Given the description of an element on the screen output the (x, y) to click on. 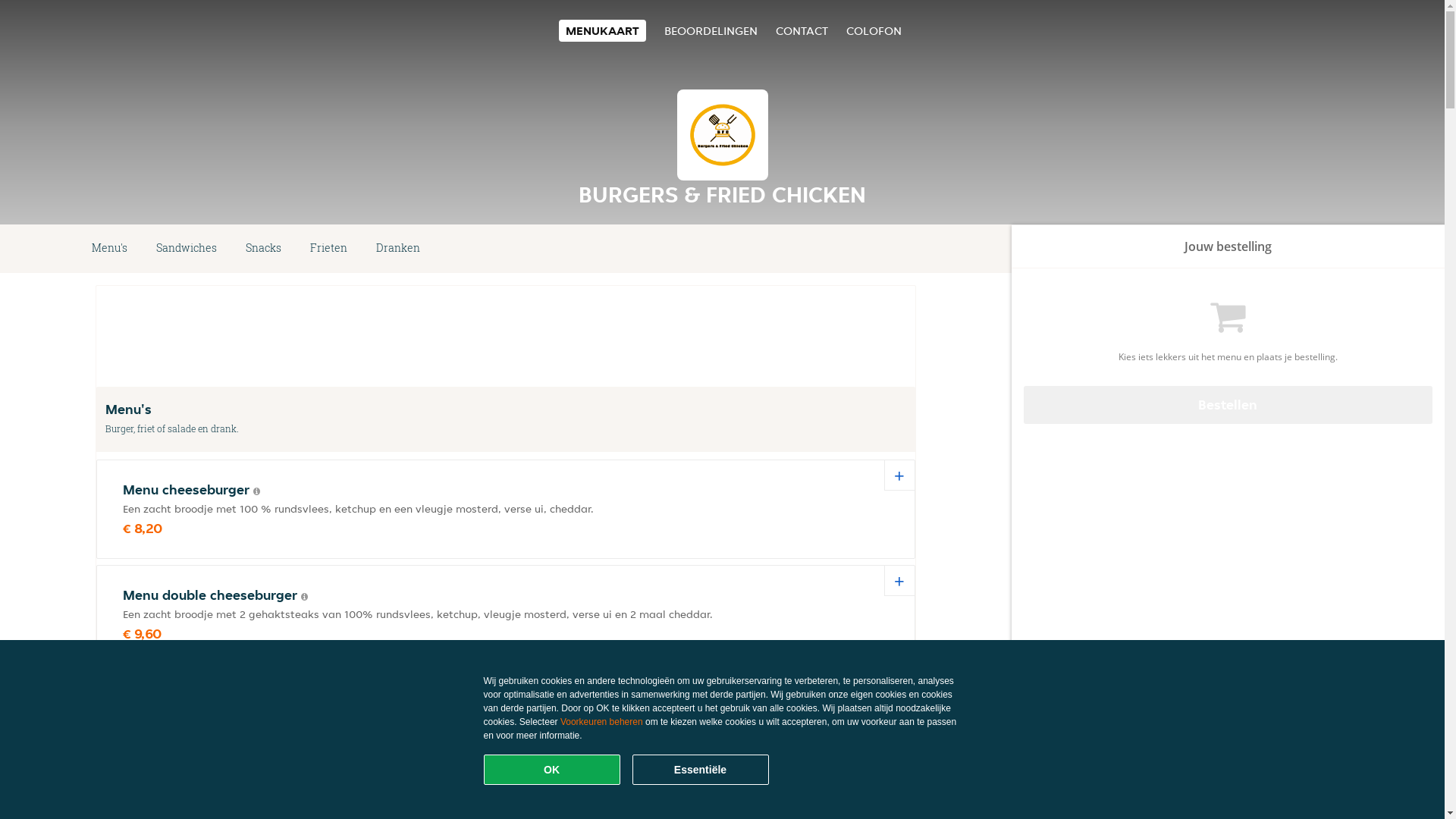
Snacks Element type: text (263, 248)
BEOORDELINGEN Element type: text (710, 30)
OK Element type: text (551, 769)
Meer productinformatie Element type: hover (304, 596)
Sandwiches Element type: text (186, 248)
COLOFON Element type: text (873, 30)
MENUKAART Element type: text (601, 30)
CONTACT Element type: text (801, 30)
Voorkeuren beheren Element type: text (601, 721)
Meer productinformatie Element type: hover (256, 491)
Dranken Element type: text (397, 248)
Bestellen Element type: text (1228, 404)
Frieten Element type: text (328, 248)
Meer productinformatie Element type: hover (254, 807)
Menu's Element type: text (109, 248)
Meer productinformatie Element type: hover (229, 701)
